Given the description of an element on the screen output the (x, y) to click on. 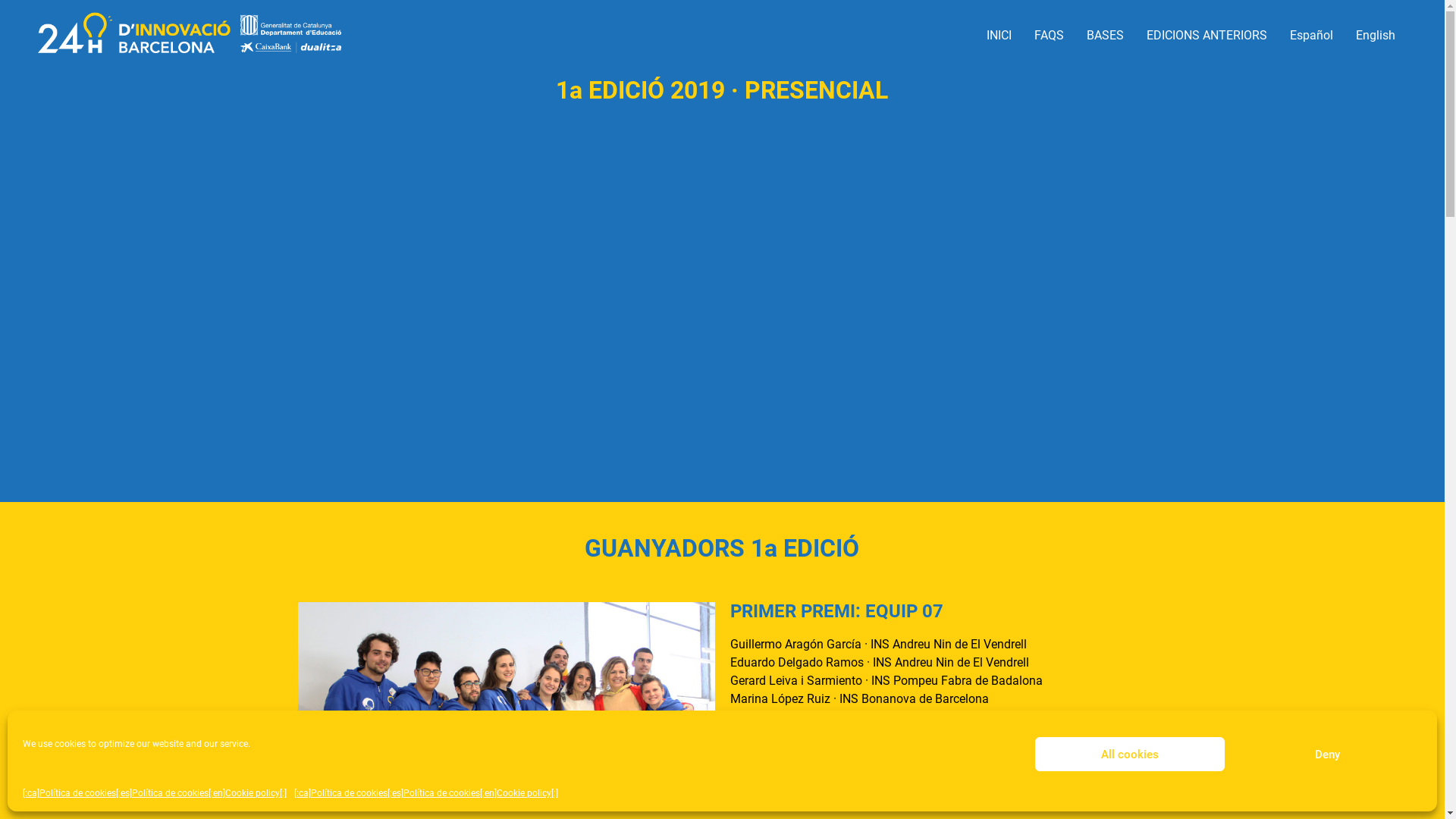
Deny Element type: text (1326, 754)
BASES Element type: text (1105, 35)
INICI Element type: text (998, 35)
EDICIONS ANTERIORS Element type: text (1206, 35)
INICI Element type: text (722, 94)
FAQS Element type: text (1048, 35)
All cookies Element type: text (1129, 754)
English Element type: text (1375, 35)
